Given the description of an element on the screen output the (x, y) to click on. 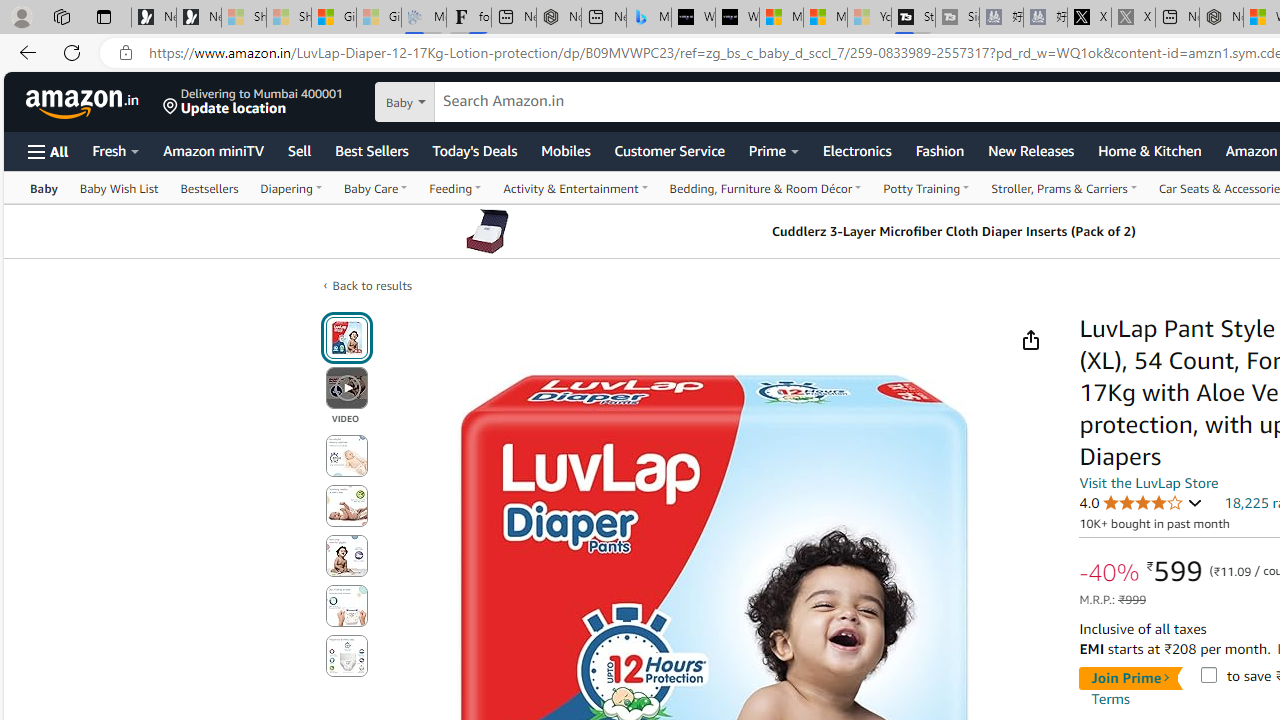
Nordace - My Account (1220, 17)
Streaming Coverage | T3 (913, 17)
Nordace - #1 Japanese Best-Seller - Siena Smart Backpack (558, 17)
Microsoft Bing Travel - Shangri-La Hotel Bangkok (648, 17)
